Given the description of an element on the screen output the (x, y) to click on. 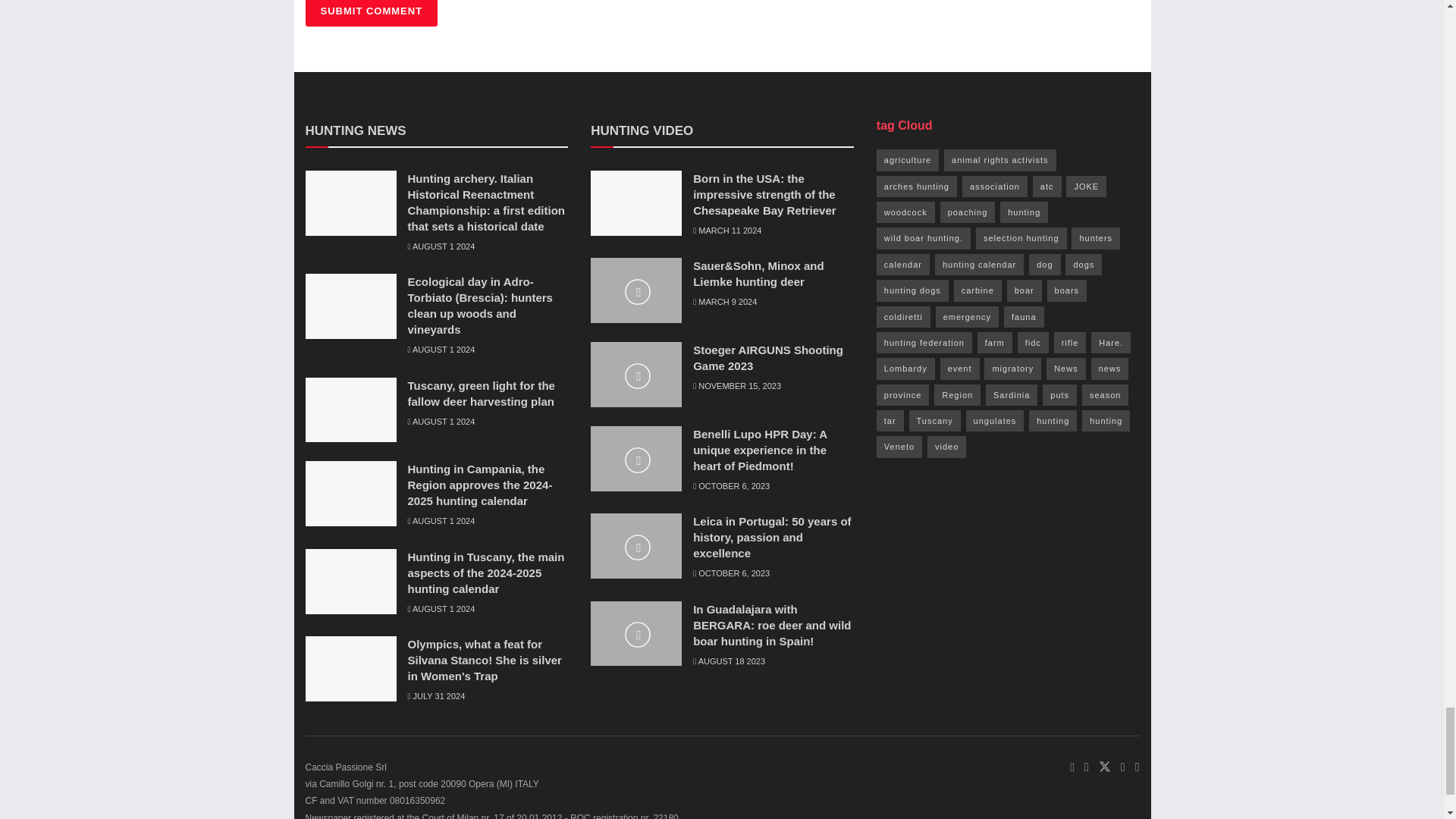
Submit comment (371, 13)
